Given the description of an element on the screen output the (x, y) to click on. 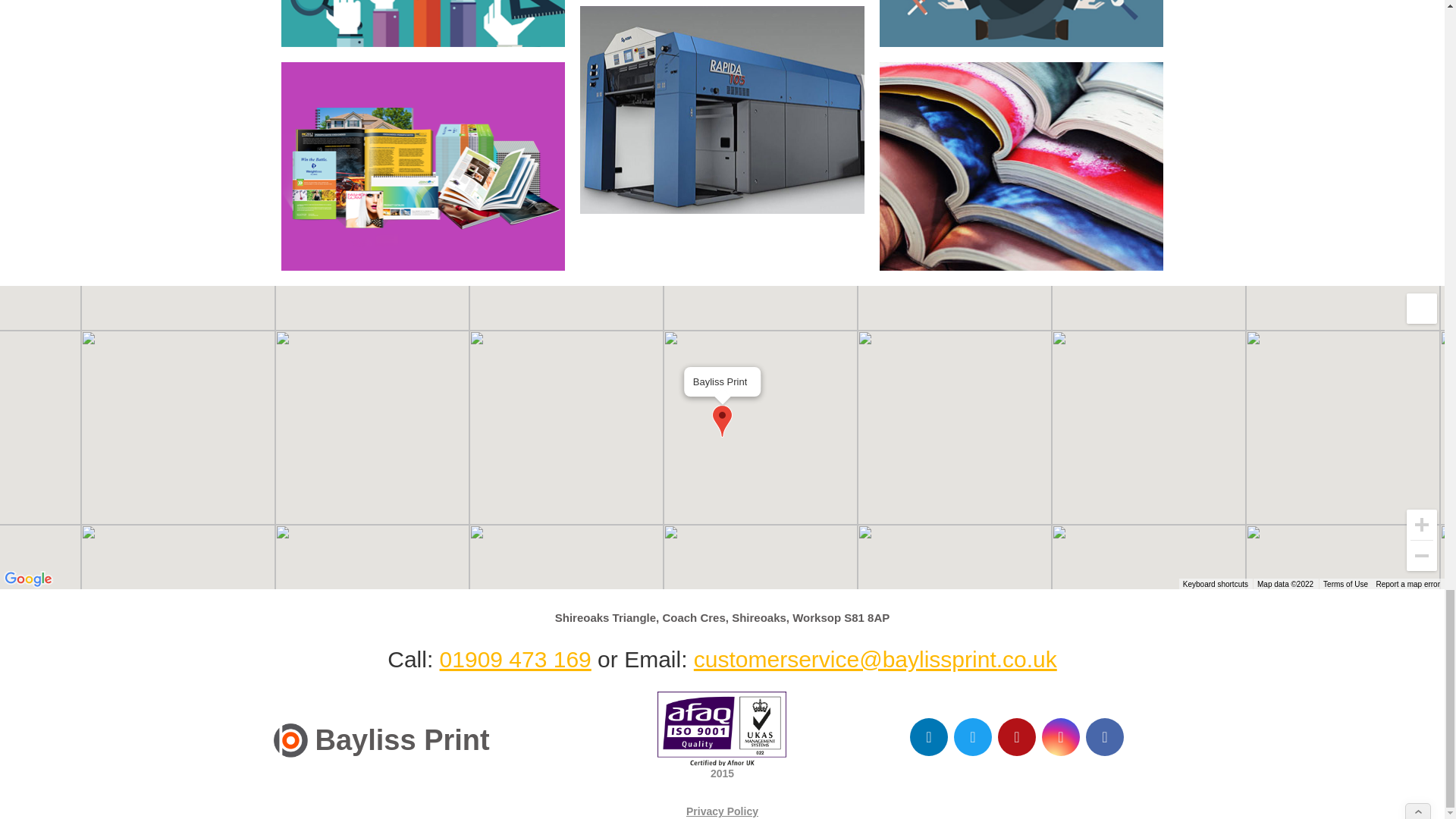
Report errors in the road map or imagery to Google (1407, 583)
Zoom out (1421, 555)
Toggle fullscreen view (1421, 308)
Keyboard shortcuts (1214, 584)
Zoom in (1421, 524)
